Given the description of an element on the screen output the (x, y) to click on. 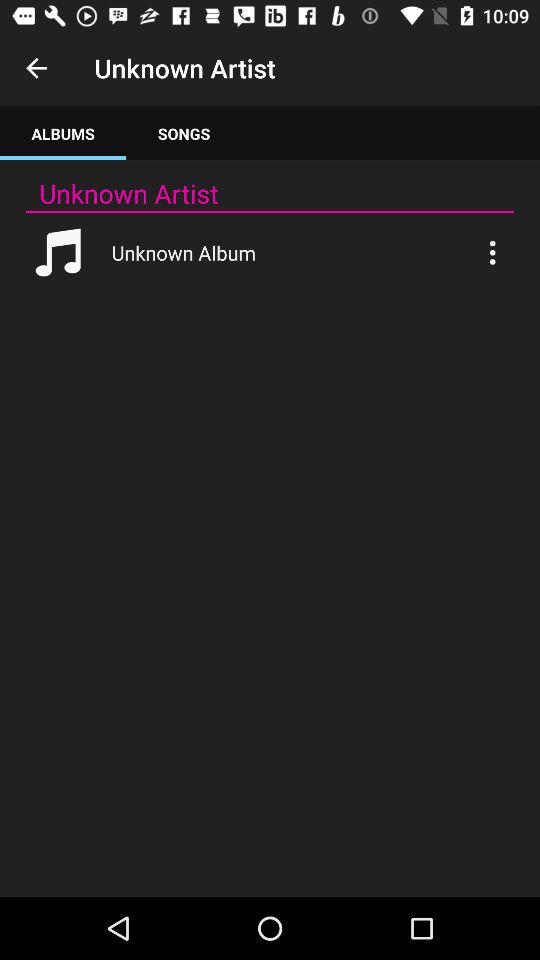
swipe until the albums app (63, 133)
